Given the description of an element on the screen output the (x, y) to click on. 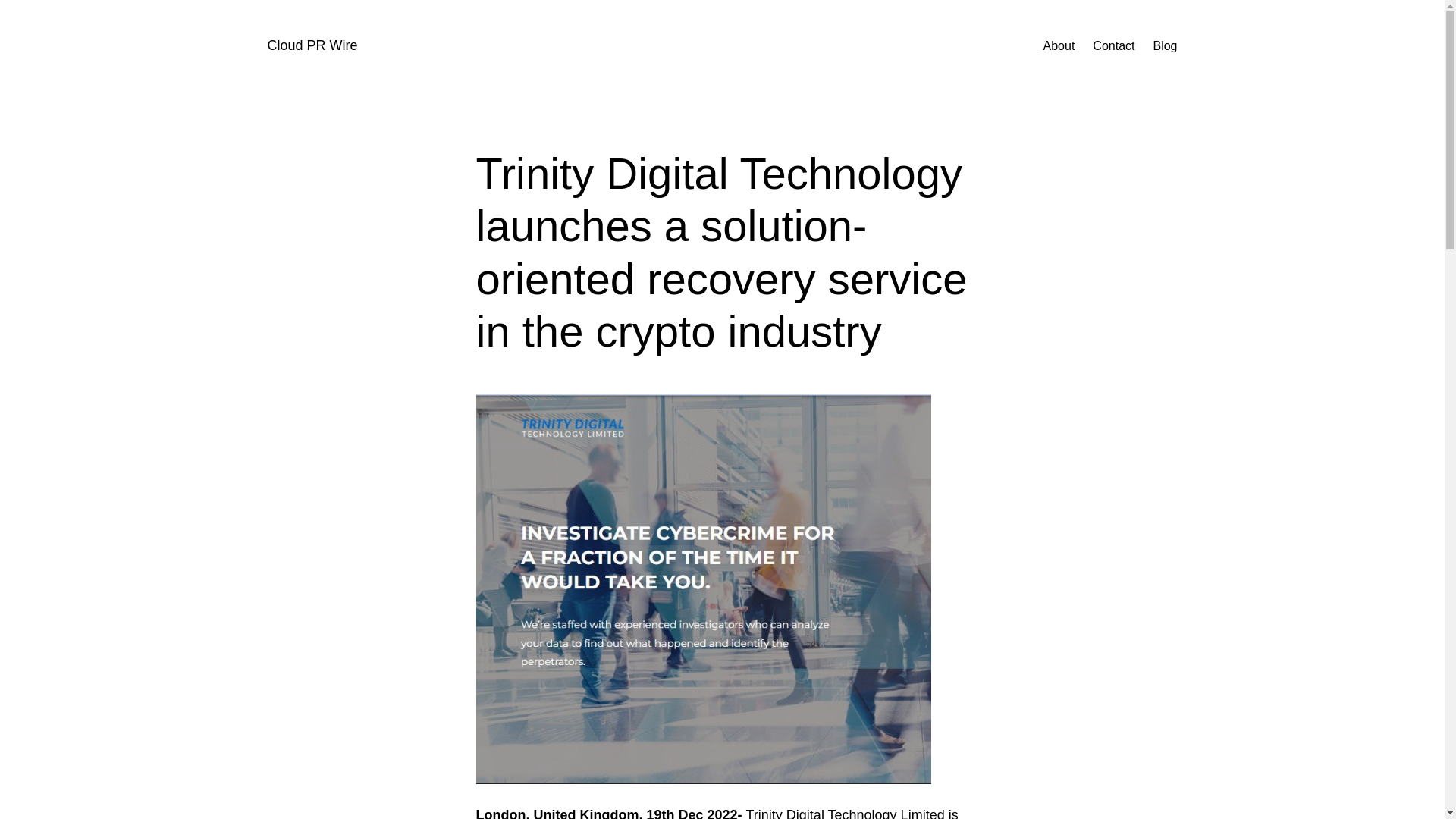
About (1059, 46)
Cloud PR Wire (311, 45)
Blog (1164, 46)
Contact (1113, 46)
